Given the description of an element on the screen output the (x, y) to click on. 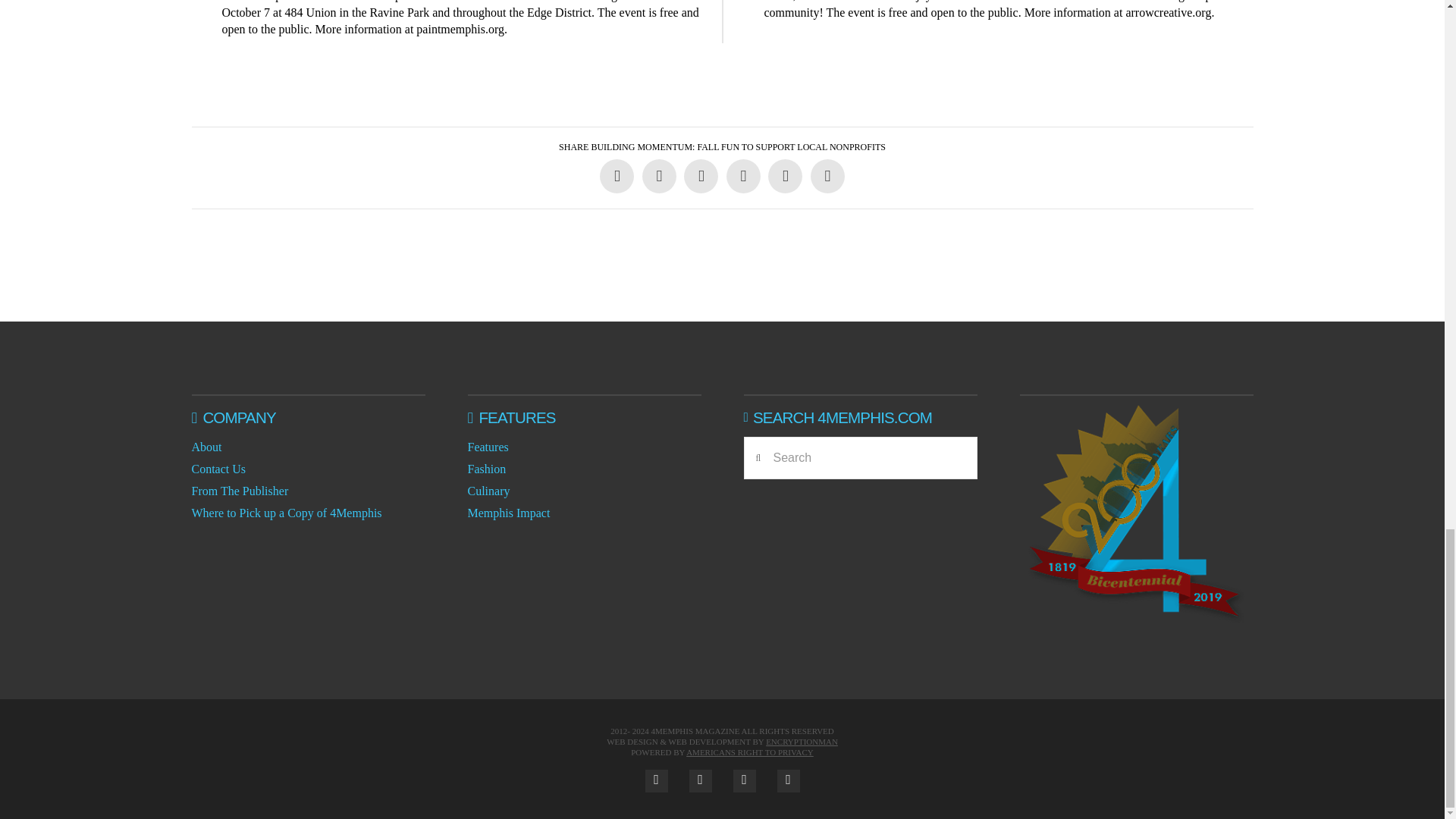
Americans Right to Privacy (749, 751)
Instagram (743, 780)
Twitter (699, 780)
EncryptionMan (801, 741)
Facebook (655, 780)
